Given the description of an element on the screen output the (x, y) to click on. 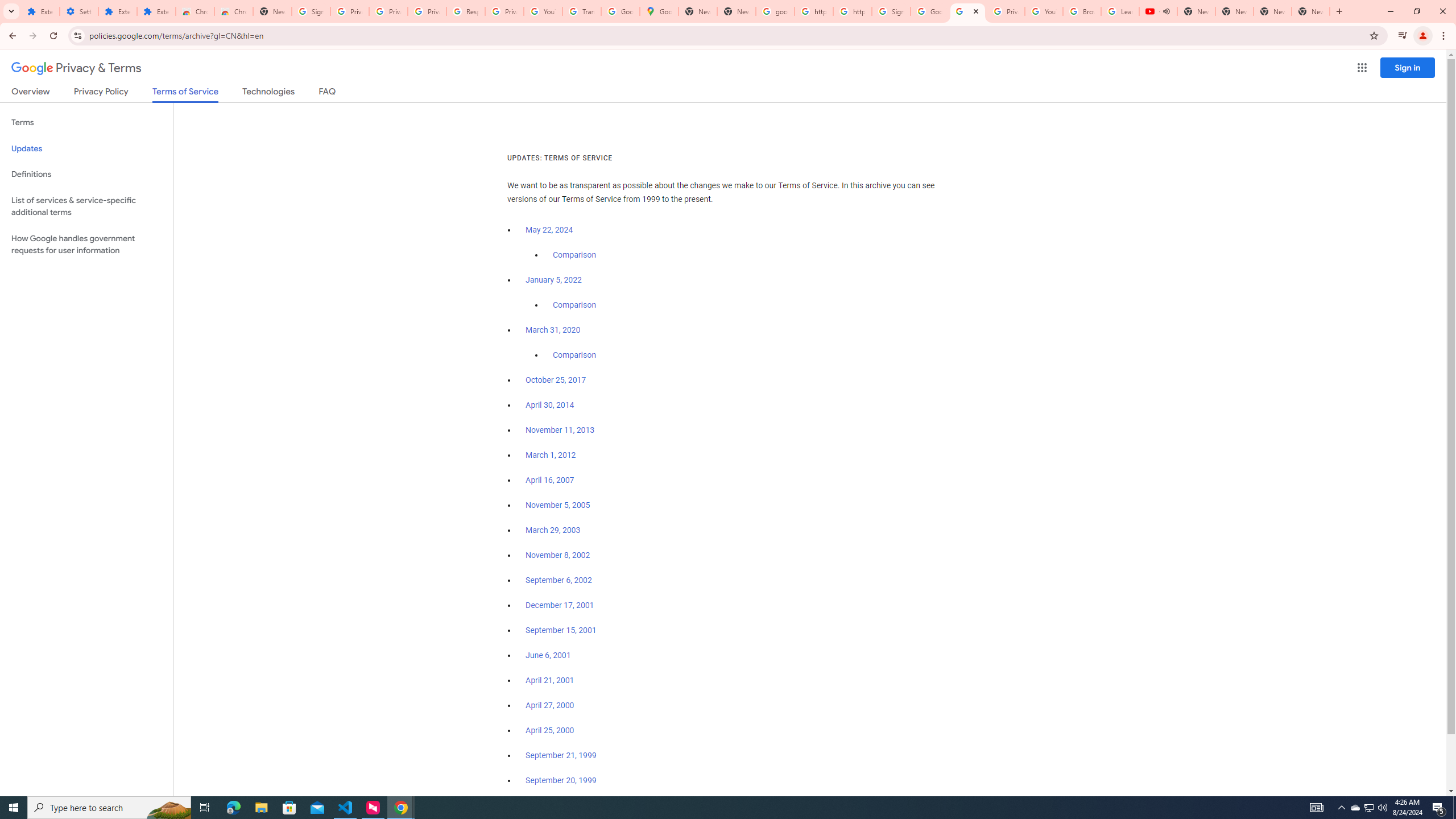
September 15, 2001 (560, 629)
Extensions (40, 11)
June 6, 2001 (547, 655)
May 22, 2024 (549, 230)
December 17, 2001 (559, 605)
April 21, 2001 (550, 679)
April 30, 2014 (550, 405)
Comparison (574, 355)
